Given the description of an element on the screen output the (x, y) to click on. 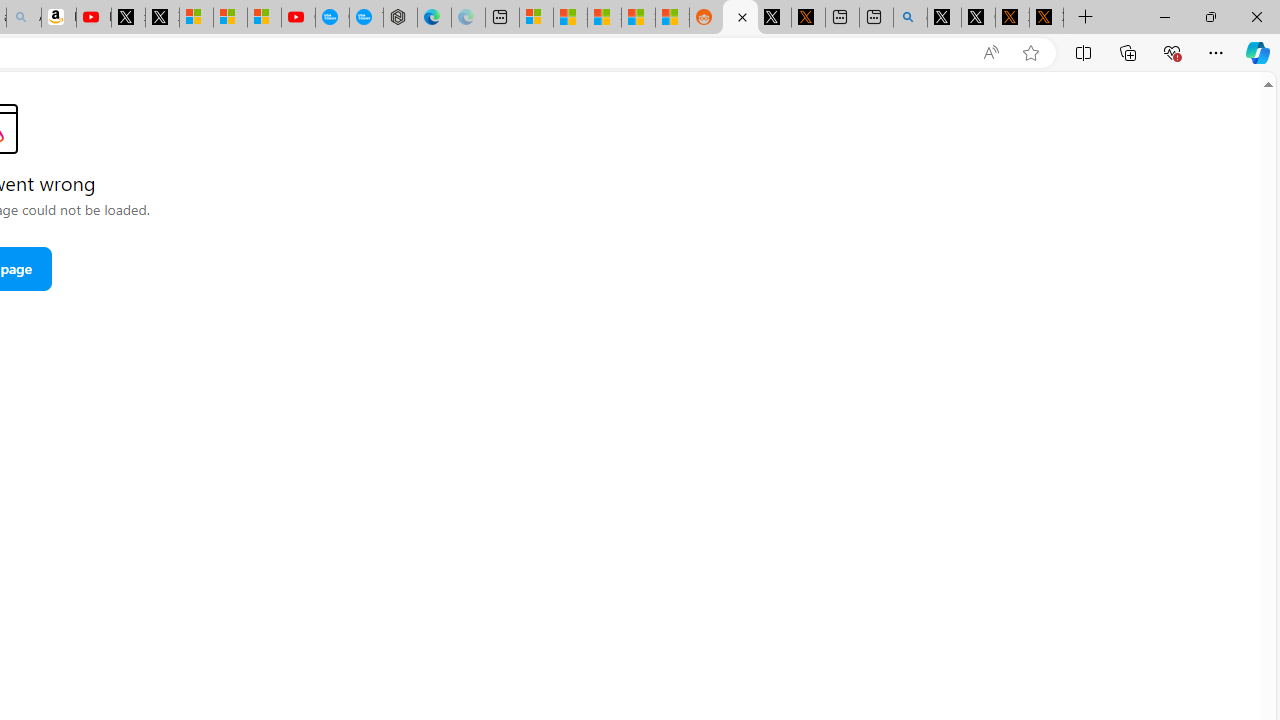
Shanghai, China Weather trends | Microsoft Weather (671, 17)
X Privacy Policy (1046, 17)
github - Search (909, 17)
Profile / X (944, 17)
Day 1: Arriving in Yemen (surreal to be here) - YouTube (93, 17)
Shanghai, China weather forecast | Microsoft Weather (570, 17)
